Given the description of an element on the screen output the (x, y) to click on. 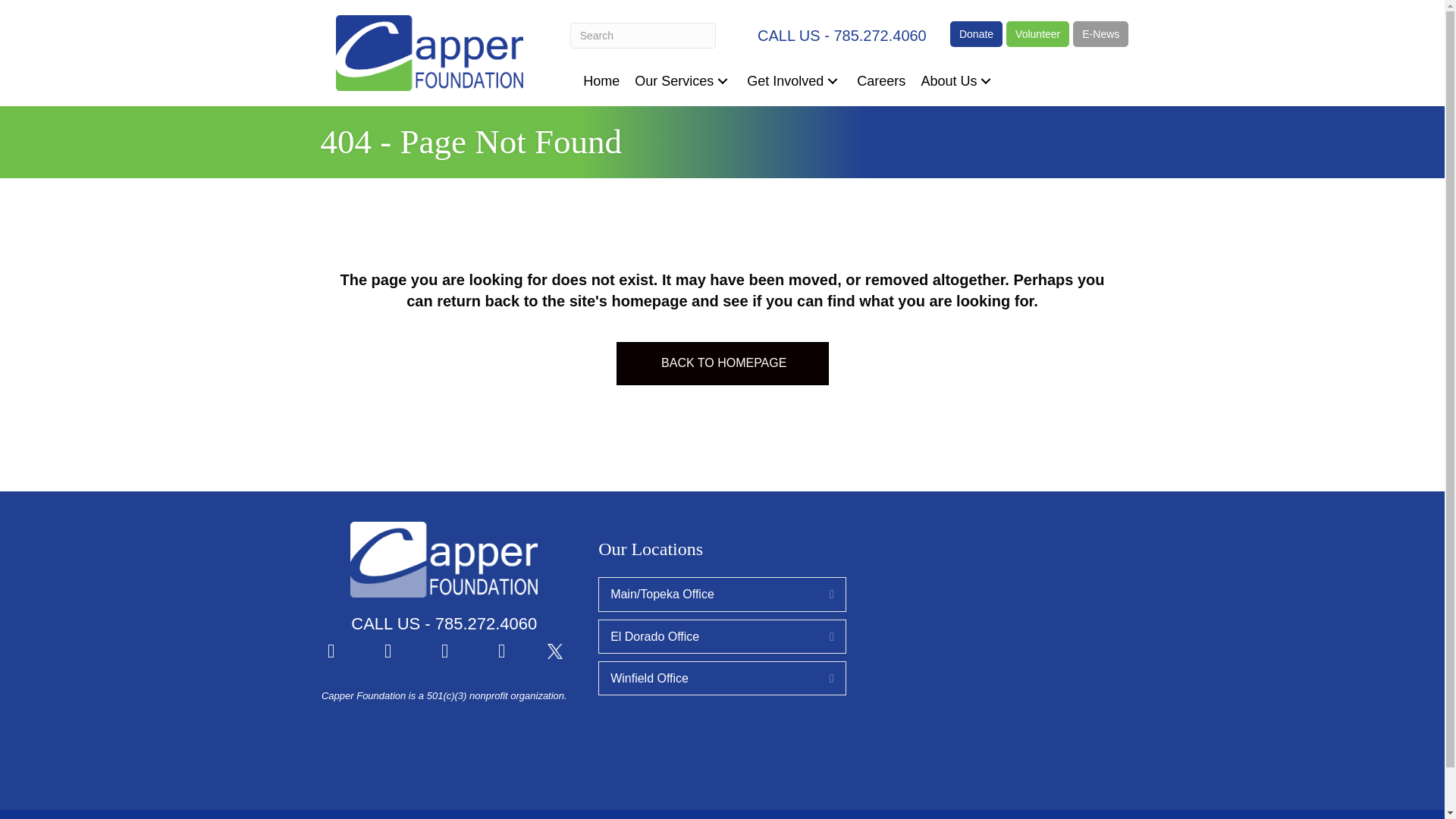
Our Services (683, 80)
Type and press Enter to search. (643, 35)
Capper-Foundation (429, 52)
Home (601, 80)
x-logo-white (554, 651)
LinkedIn (501, 651)
Get Involved (793, 80)
Donate (976, 33)
Capper-Foundation-white (443, 559)
Volunteer (1037, 33)
